Given the description of an element on the screen output the (x, y) to click on. 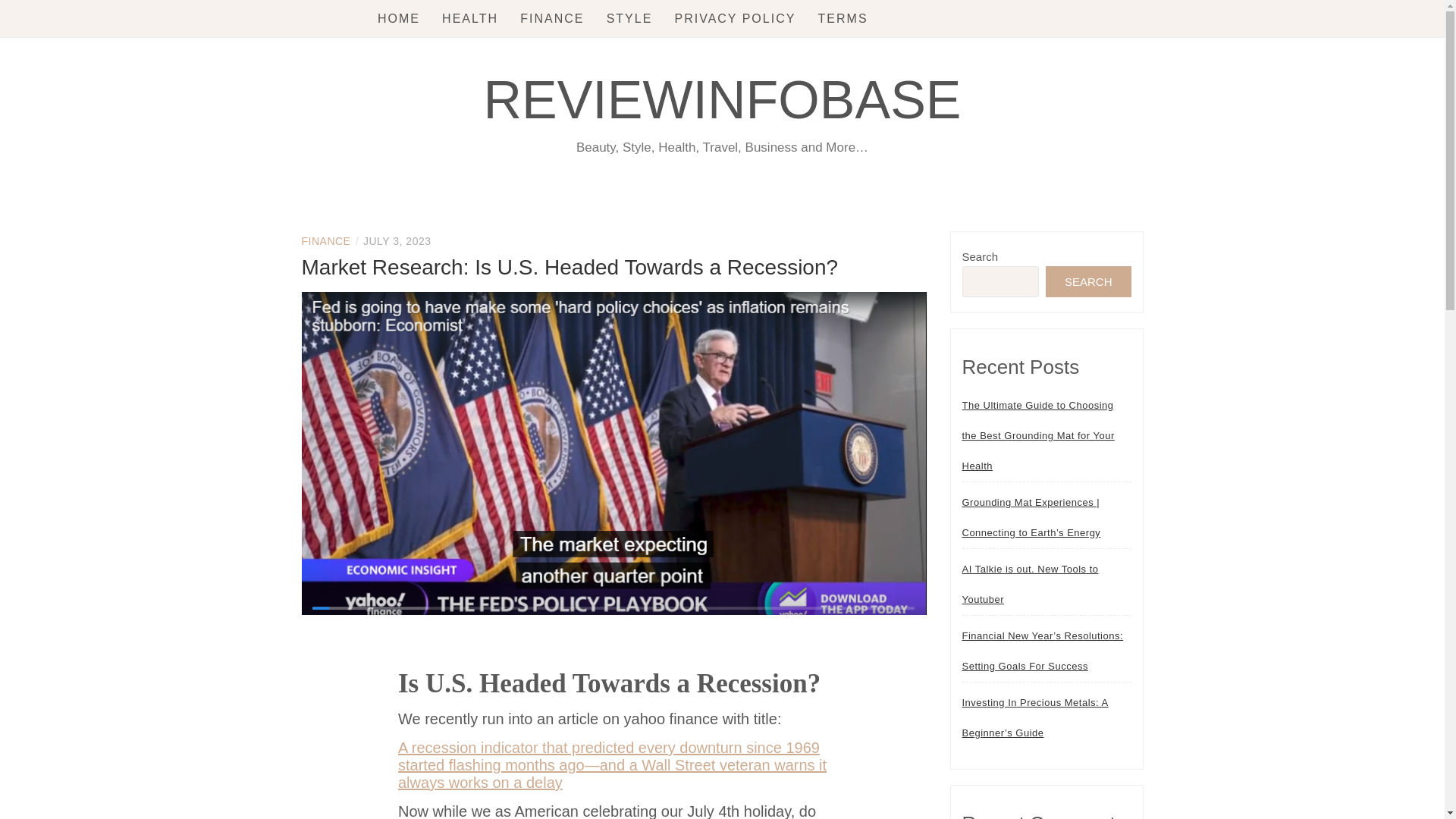
TERMS (842, 18)
FINANCE (325, 241)
STYLE (629, 18)
HOME (398, 18)
HEALTH (469, 18)
PRIVACY POLICY (734, 18)
AI Talkie is out. New Tools to Youtuber (1045, 584)
SEARCH (1088, 281)
REVIEWINFOBASE (721, 99)
FINANCE (551, 18)
